Given the description of an element on the screen output the (x, y) to click on. 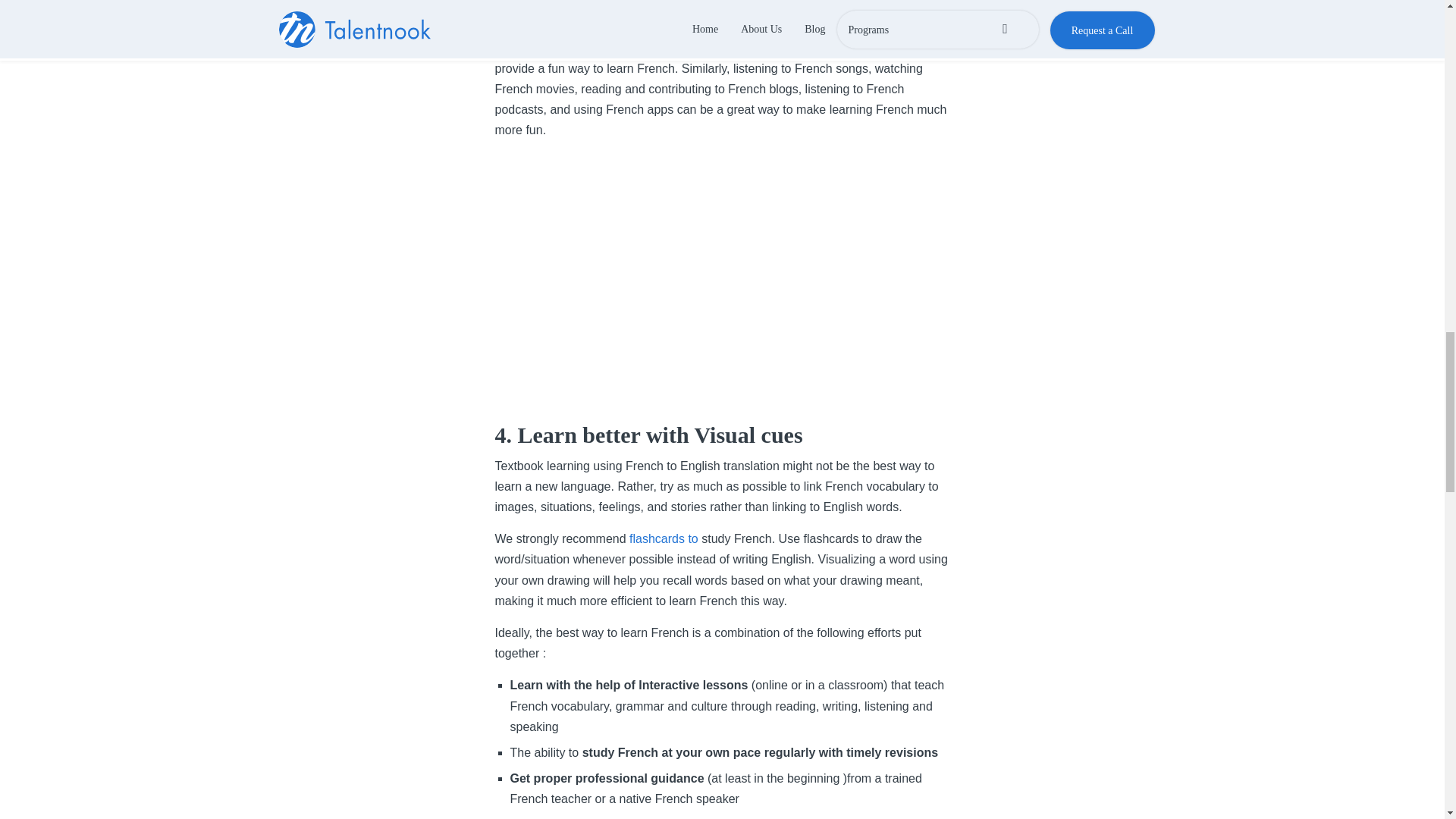
French videos on YouTube (601, 47)
flashcards to (664, 538)
